Given the description of an element on the screen output the (x, y) to click on. 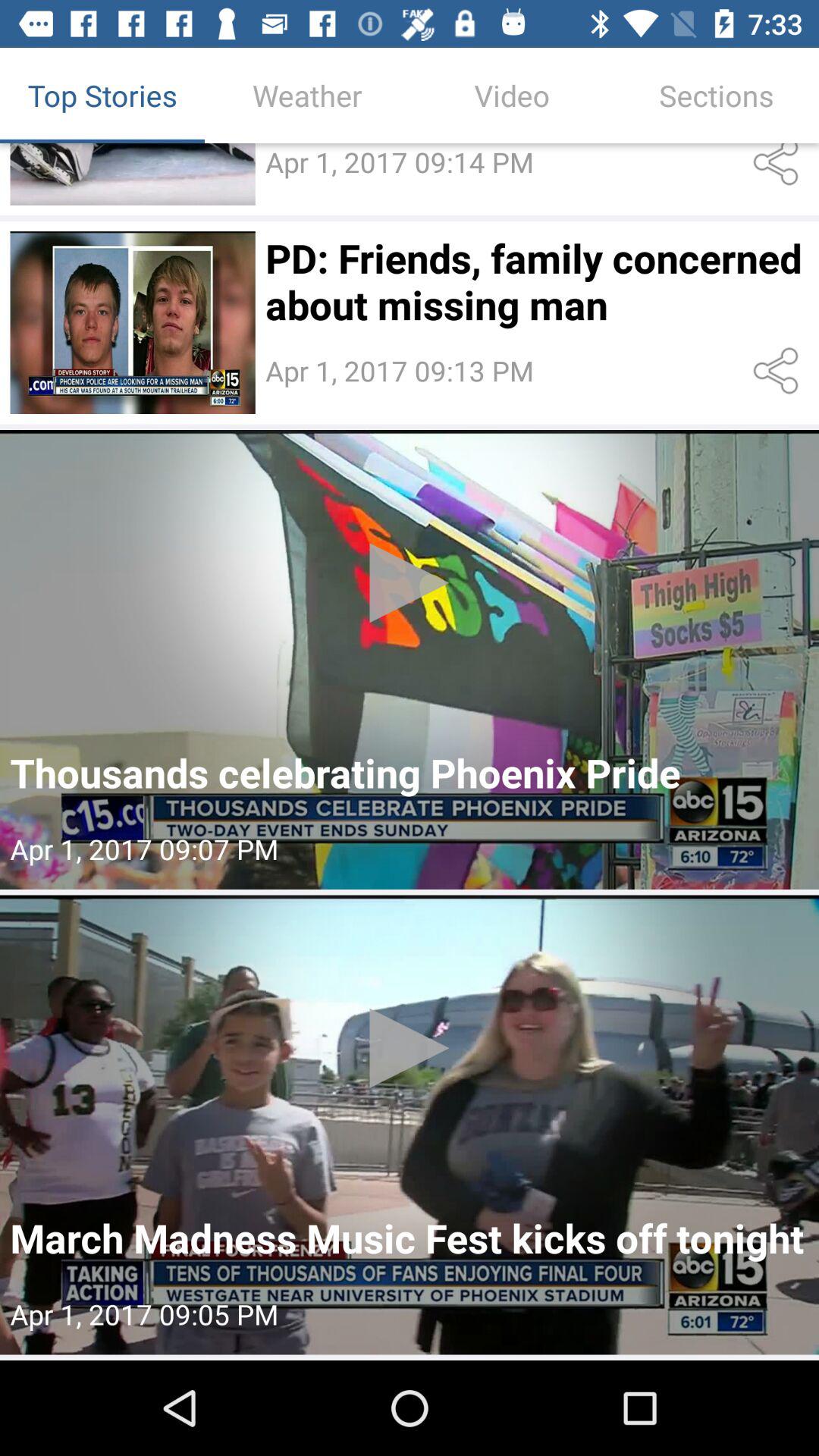
view an article on the marhch madness music festival (409, 1124)
